Given the description of an element on the screen output the (x, y) to click on. 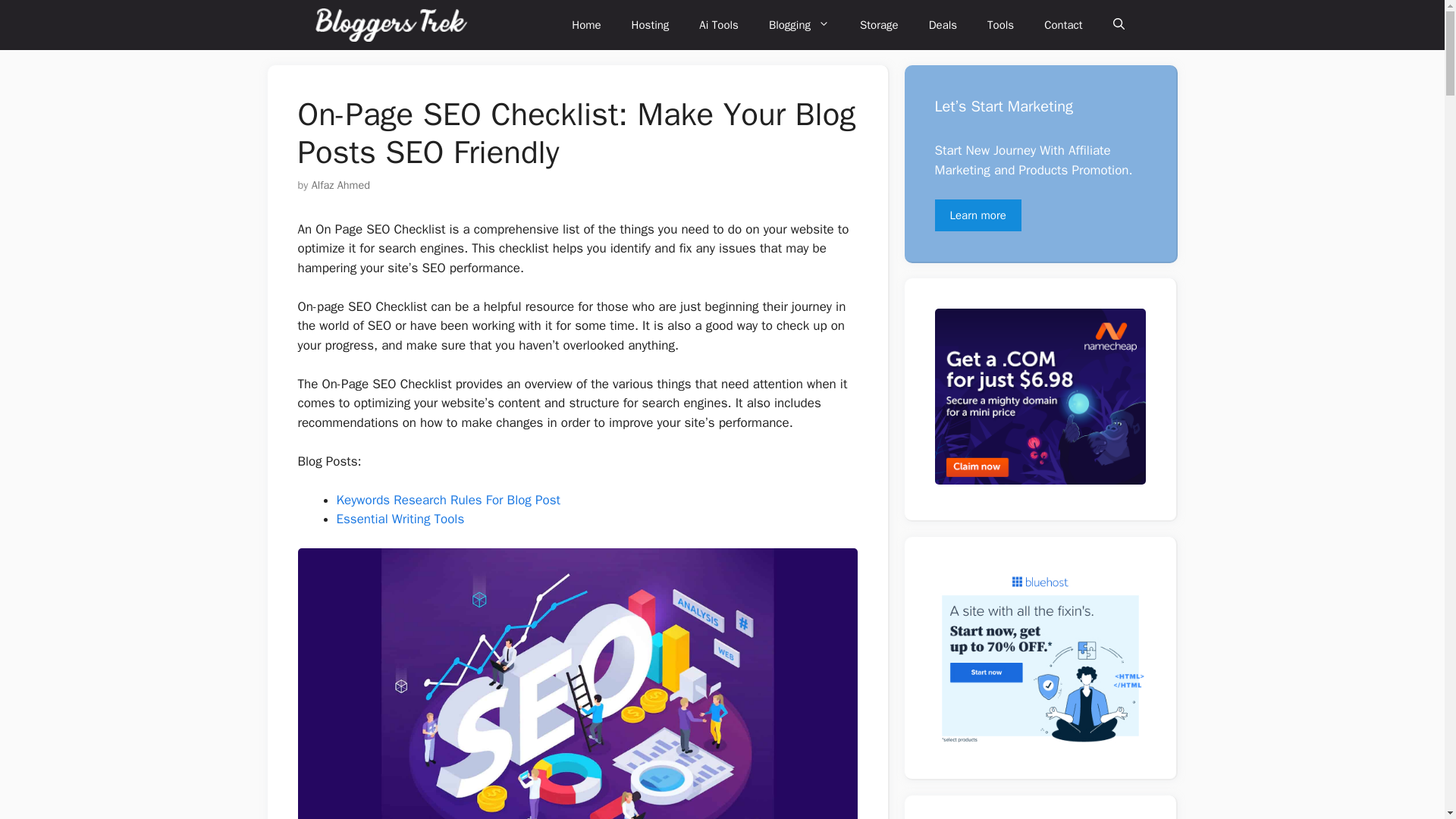
Essential Writing Tools (400, 519)
Hosting (649, 23)
Home (585, 23)
View all posts by Alfaz Ahmed (340, 184)
Ai Tools (719, 23)
Contact (1063, 23)
Tools (1000, 23)
Deals (943, 23)
Blogging (799, 23)
Alfaz Ahmed (340, 184)
